Given the description of an element on the screen output the (x, y) to click on. 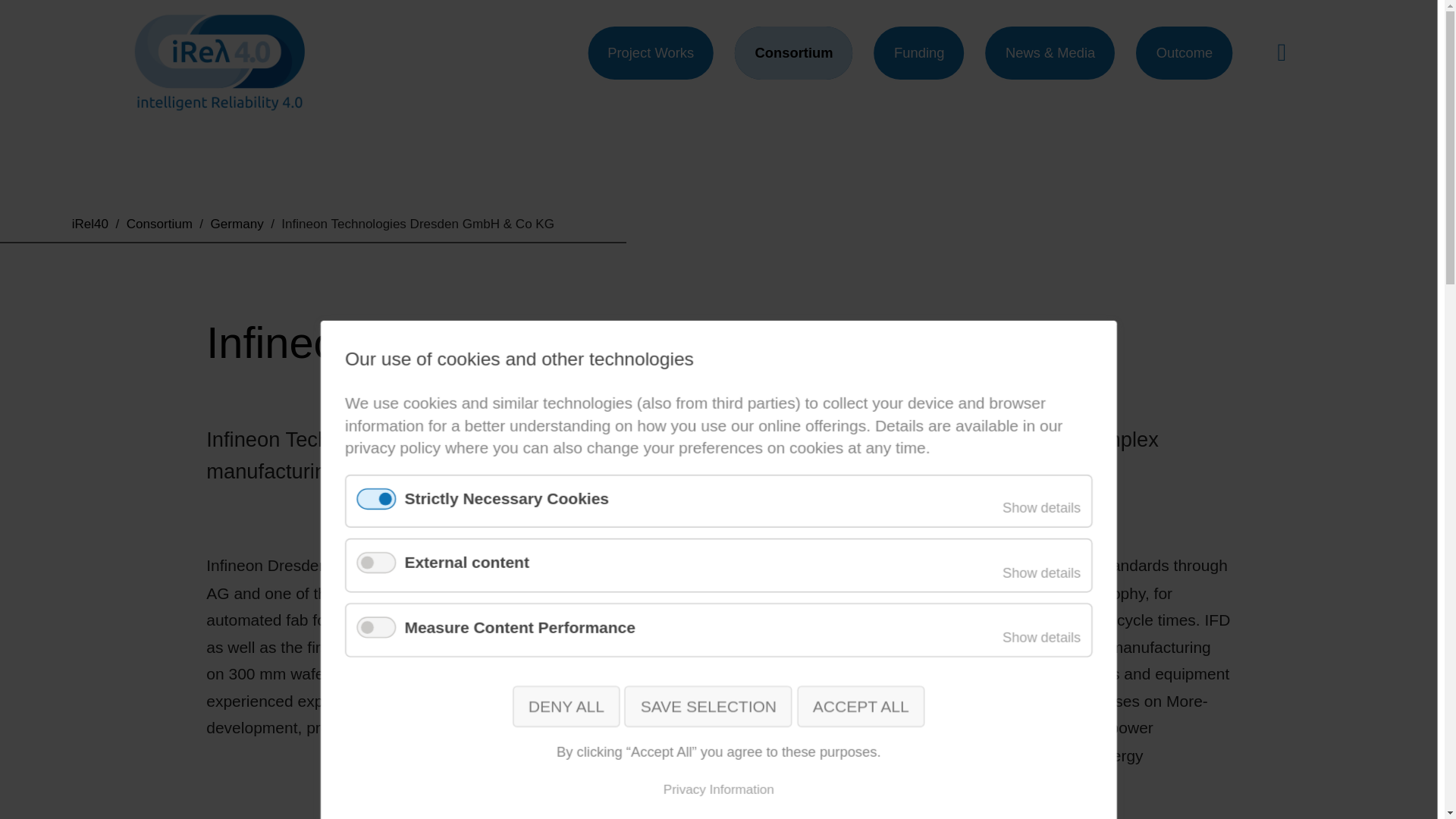
Project Works (633, 45)
Project Works (633, 45)
Consortium (776, 45)
Funding (907, 45)
Consortium (776, 45)
